Given the description of an element on the screen output the (x, y) to click on. 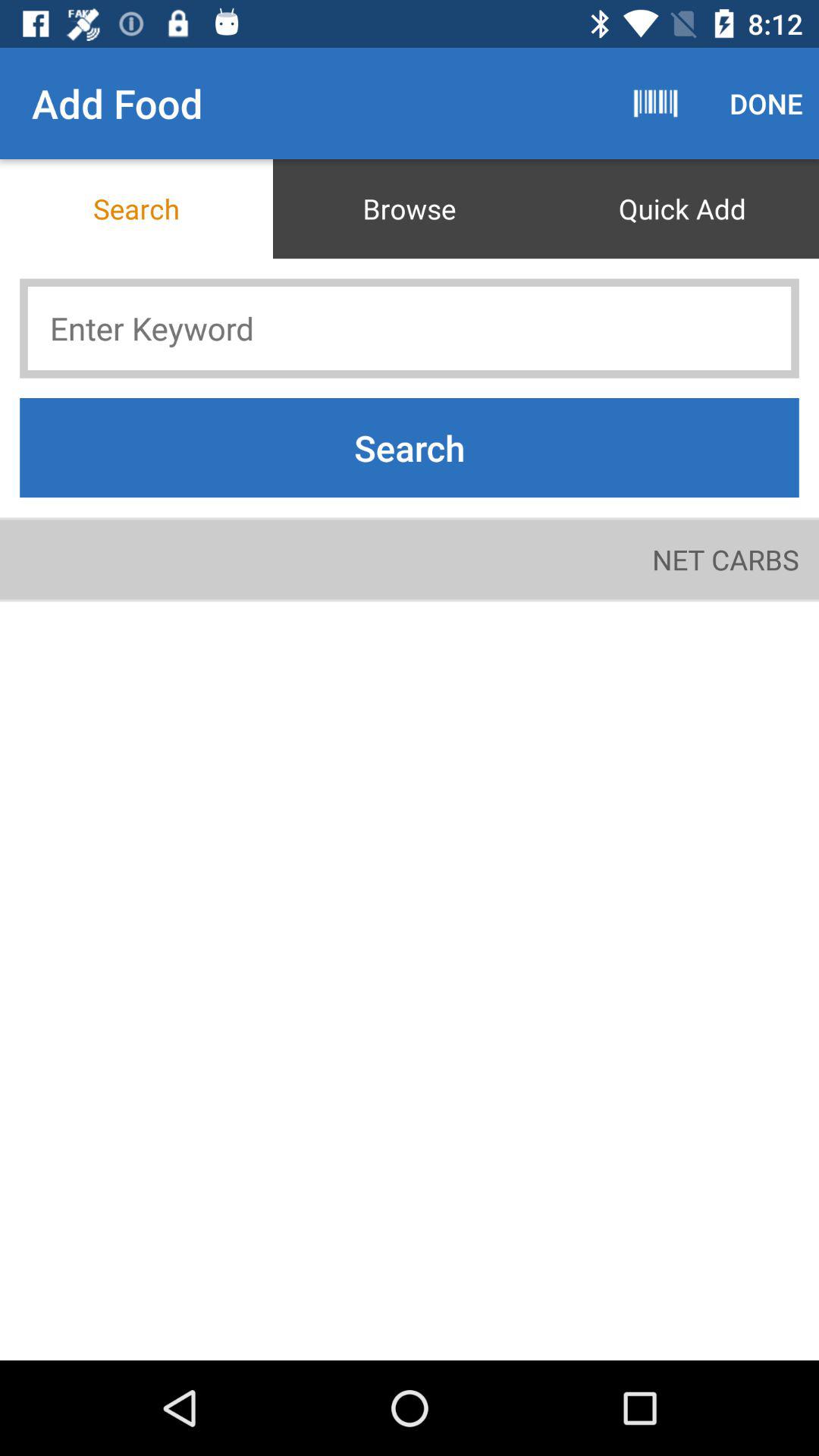
click to enter keyword (409, 328)
